Given the description of an element on the screen output the (x, y) to click on. 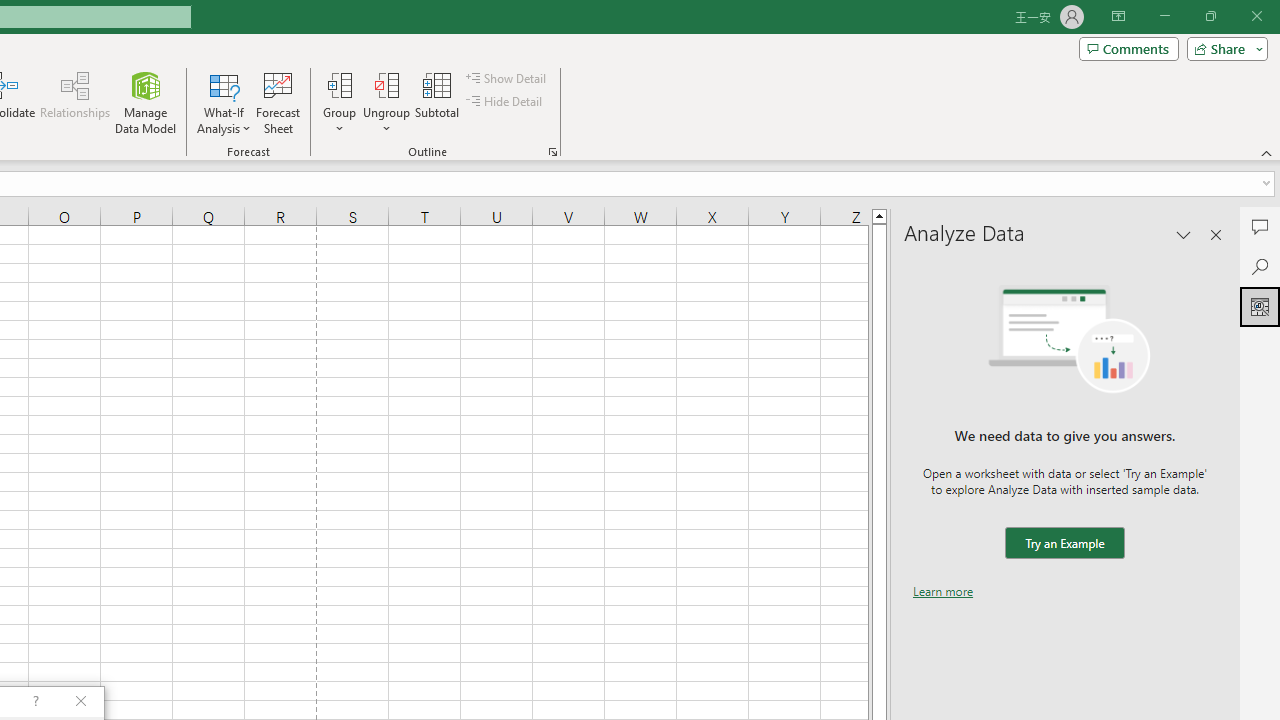
We need data to give you answers. Try an Example (1064, 543)
Learn more (943, 591)
